Given the description of an element on the screen output the (x, y) to click on. 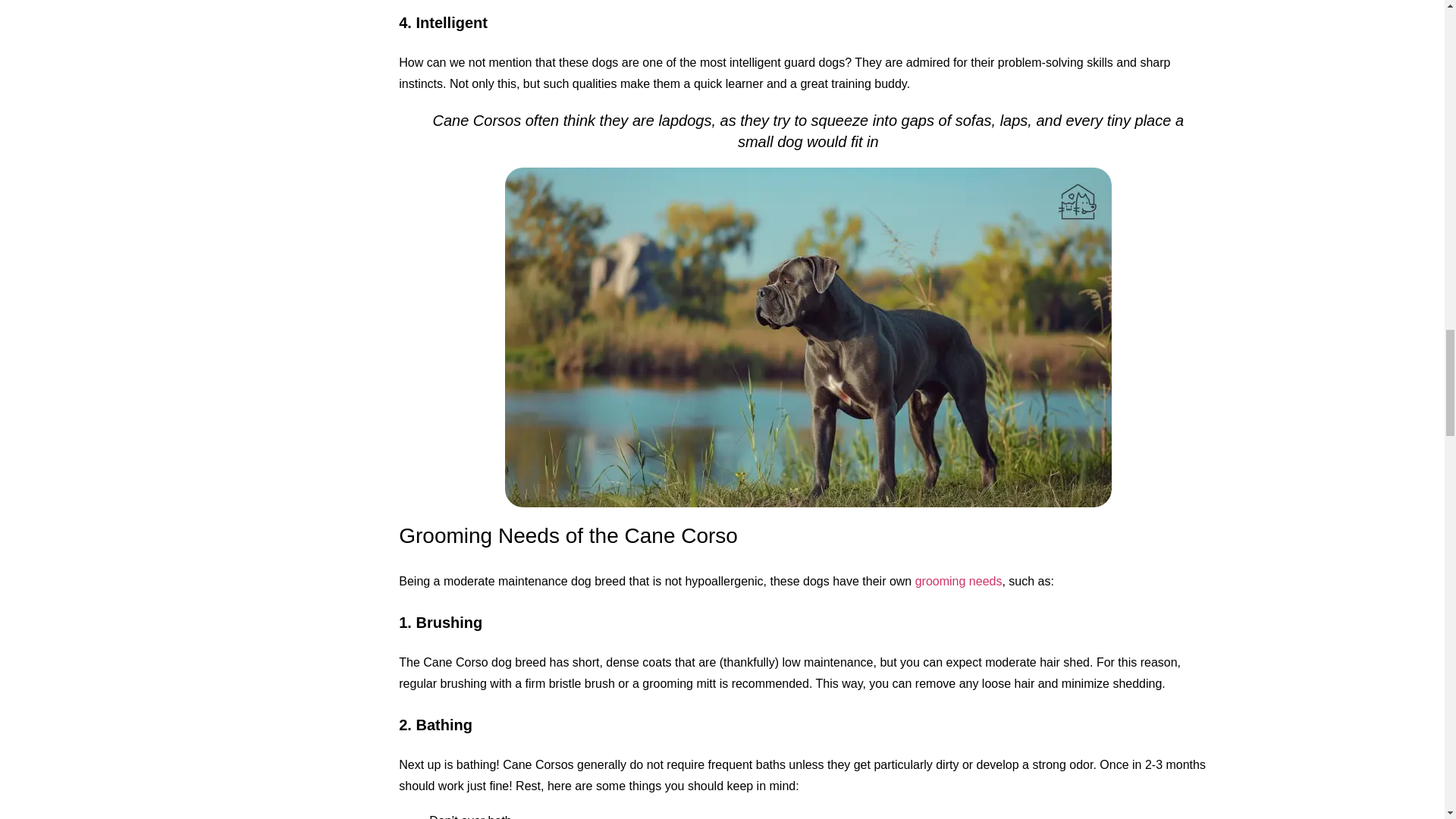
grooming needs (959, 581)
